Given the description of an element on the screen output the (x, y) to click on. 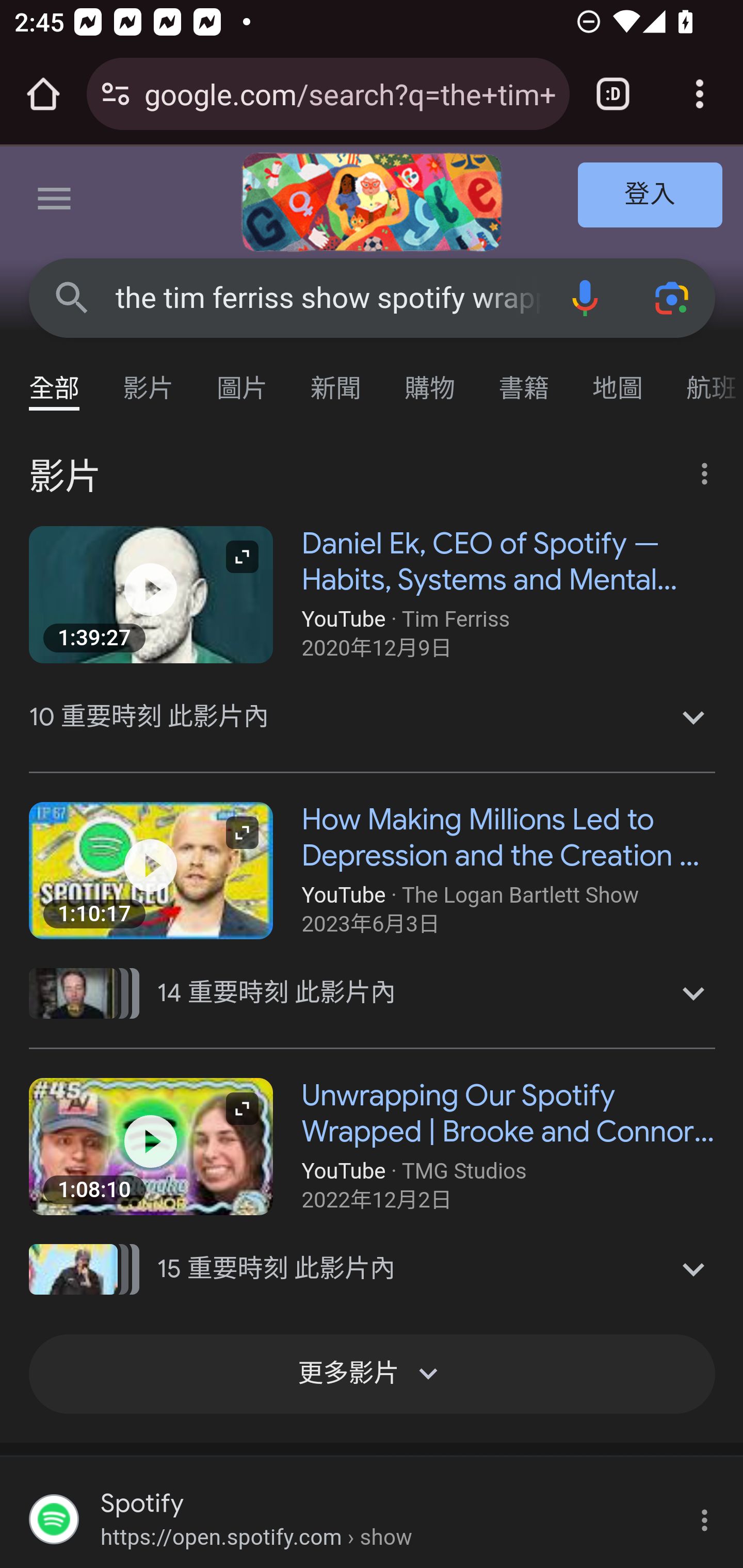
Open the home page (43, 93)
Connection is secure (115, 93)
Switch or close tabs (612, 93)
Customize and control Google Chrome (699, 93)
